Given the description of an element on the screen output the (x, y) to click on. 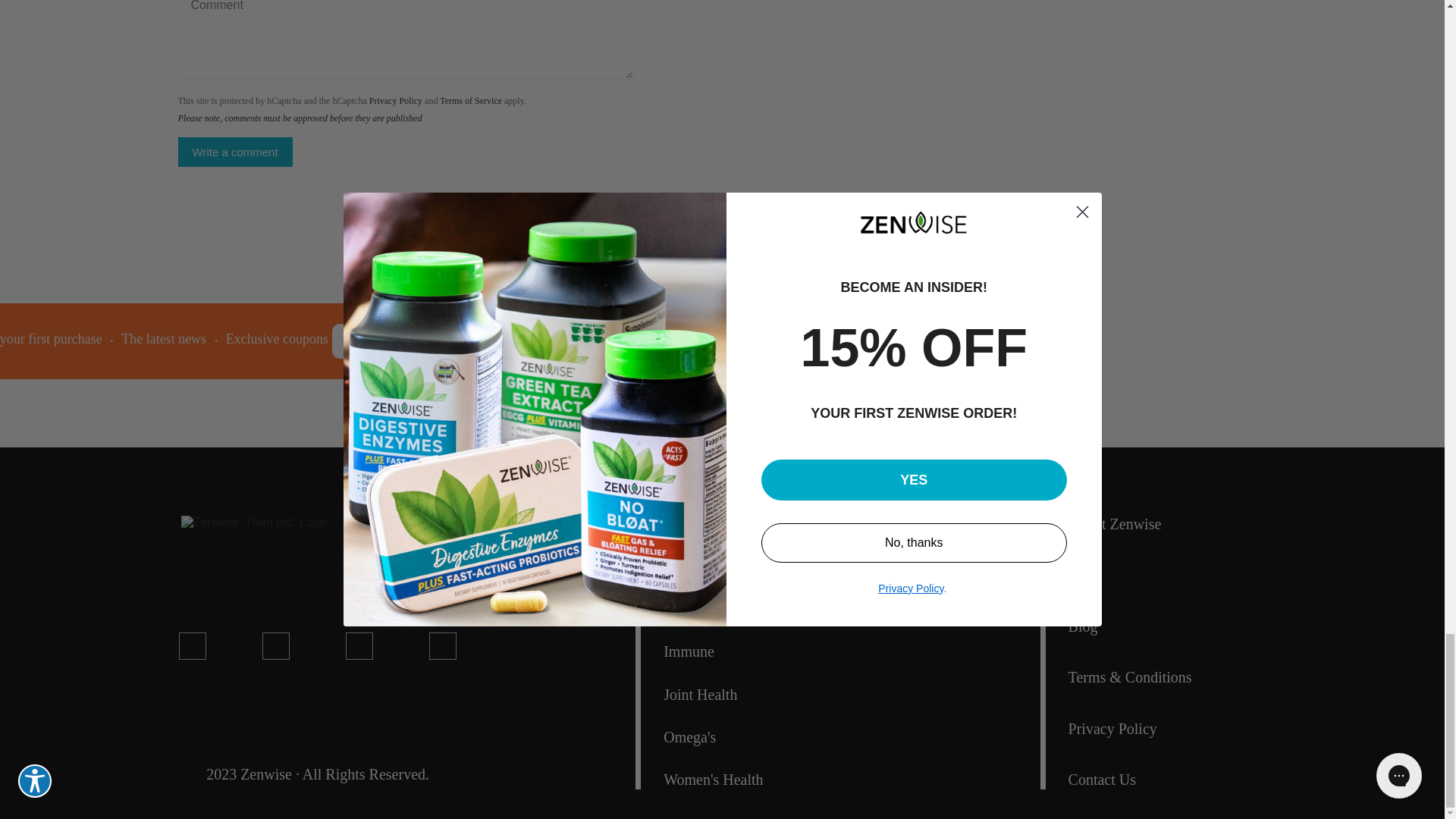
Write a comment (234, 151)
